Given the description of an element on the screen output the (x, y) to click on. 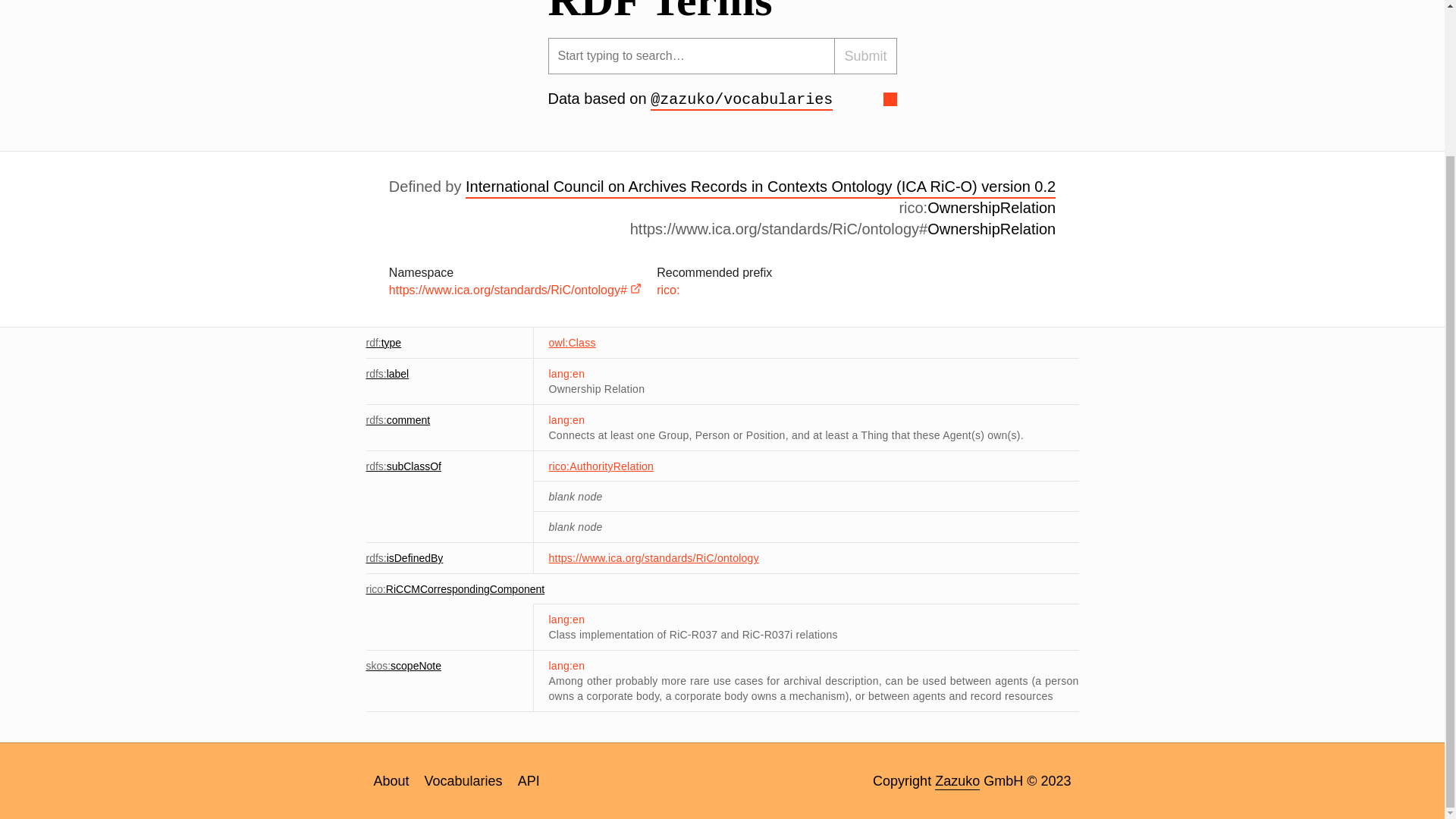
rdfs: label (387, 373)
Zazuko (956, 781)
About (390, 781)
rico: RiCCMCorrespondingComponent (454, 589)
rico: (667, 289)
rdfs: subClassOf (403, 466)
rdfs: isDefinedBy (403, 558)
owl:Class (571, 342)
rdf: type (383, 342)
skos: scopeNote (403, 665)
